Given the description of an element on the screen output the (x, y) to click on. 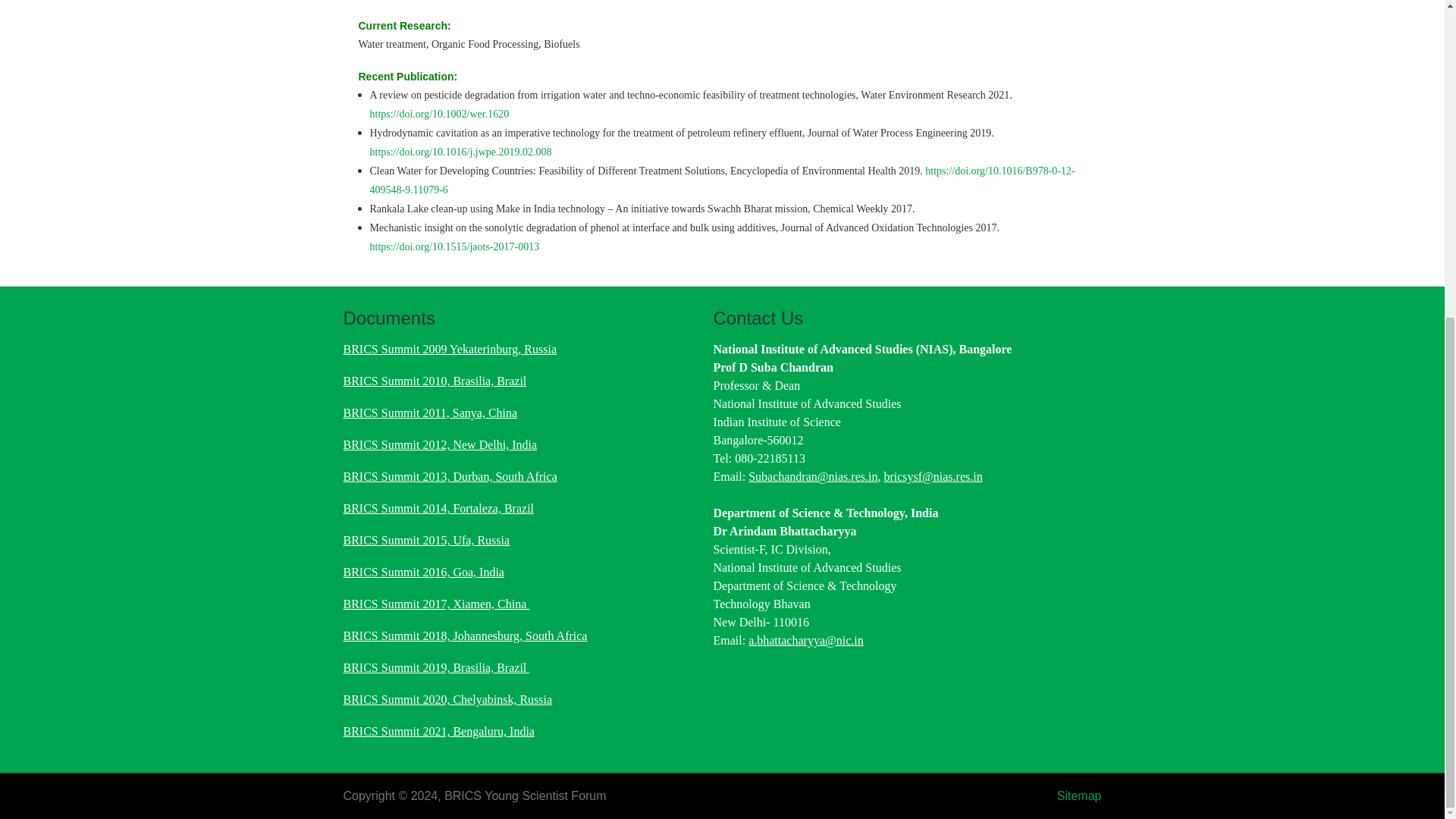
BRICS Summit 2017, Xiamen, China  (435, 603)
BRICS Summit 2016, Goa, India (422, 571)
BRICS Summit 2012, New Delhi, India (439, 444)
BRICS Summit 2009 Yekaterinburg, Russia (449, 349)
BRICS Summit 2014, Fortaleza, Brazil (438, 508)
BRICS Summit 2013, Durban, South Africa (449, 476)
BRICS Summit 2010, Brasilia, Brazil (433, 380)
BRICS Summit 2015, Ufa, Russia (425, 540)
BRICS Summit 2011, Sanya, China (429, 412)
